Given the description of an element on the screen output the (x, y) to click on. 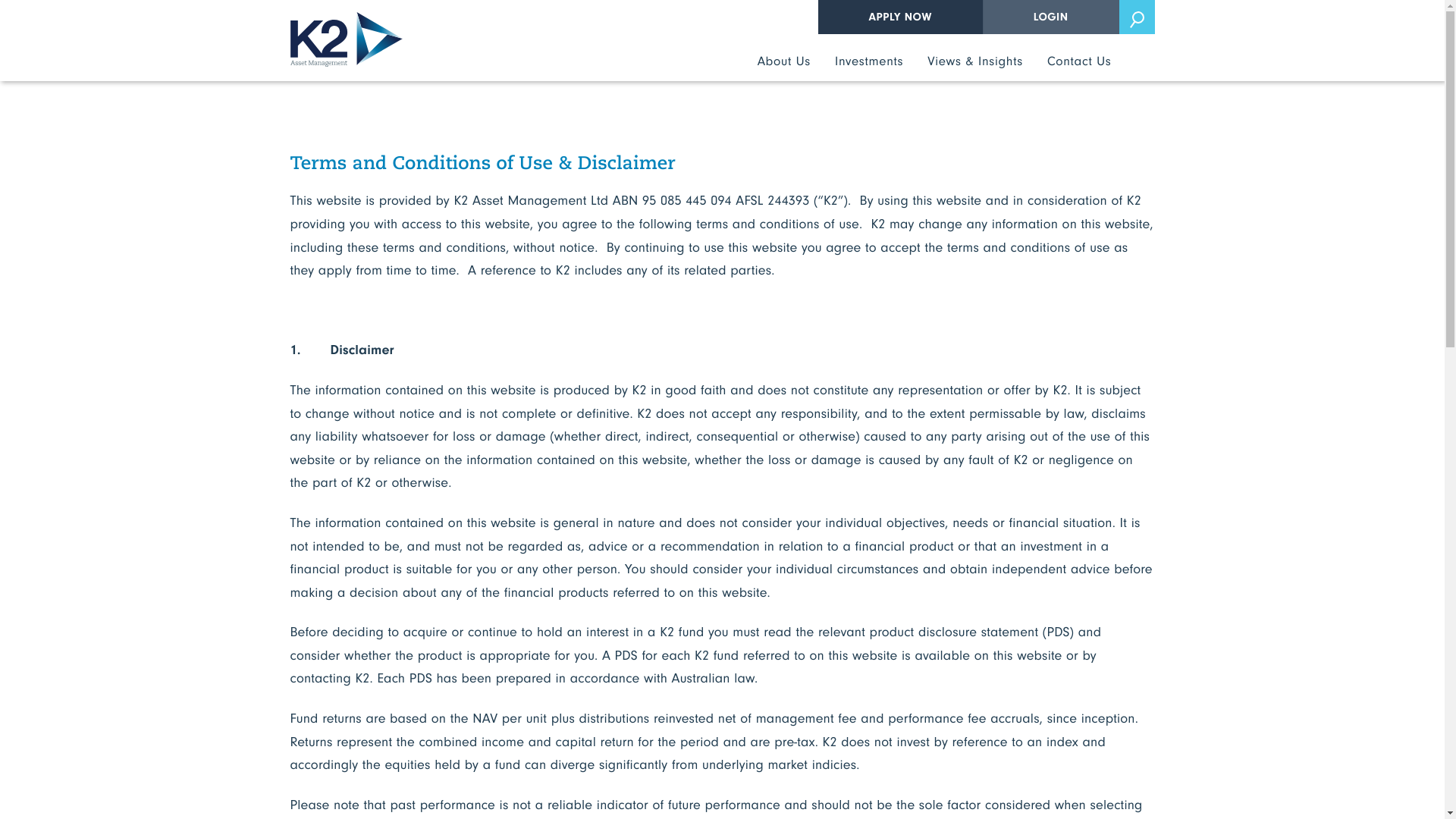
Contact Us Element type: text (1079, 66)
APPLY NOW Element type: text (900, 17)
LOGIN Element type: text (1050, 17)
K2 Element type: text (345, 39)
Views & Insights Element type: text (974, 66)
About Us Element type: text (783, 66)
Investments Element type: text (868, 66)
